Given the description of an element on the screen output the (x, y) to click on. 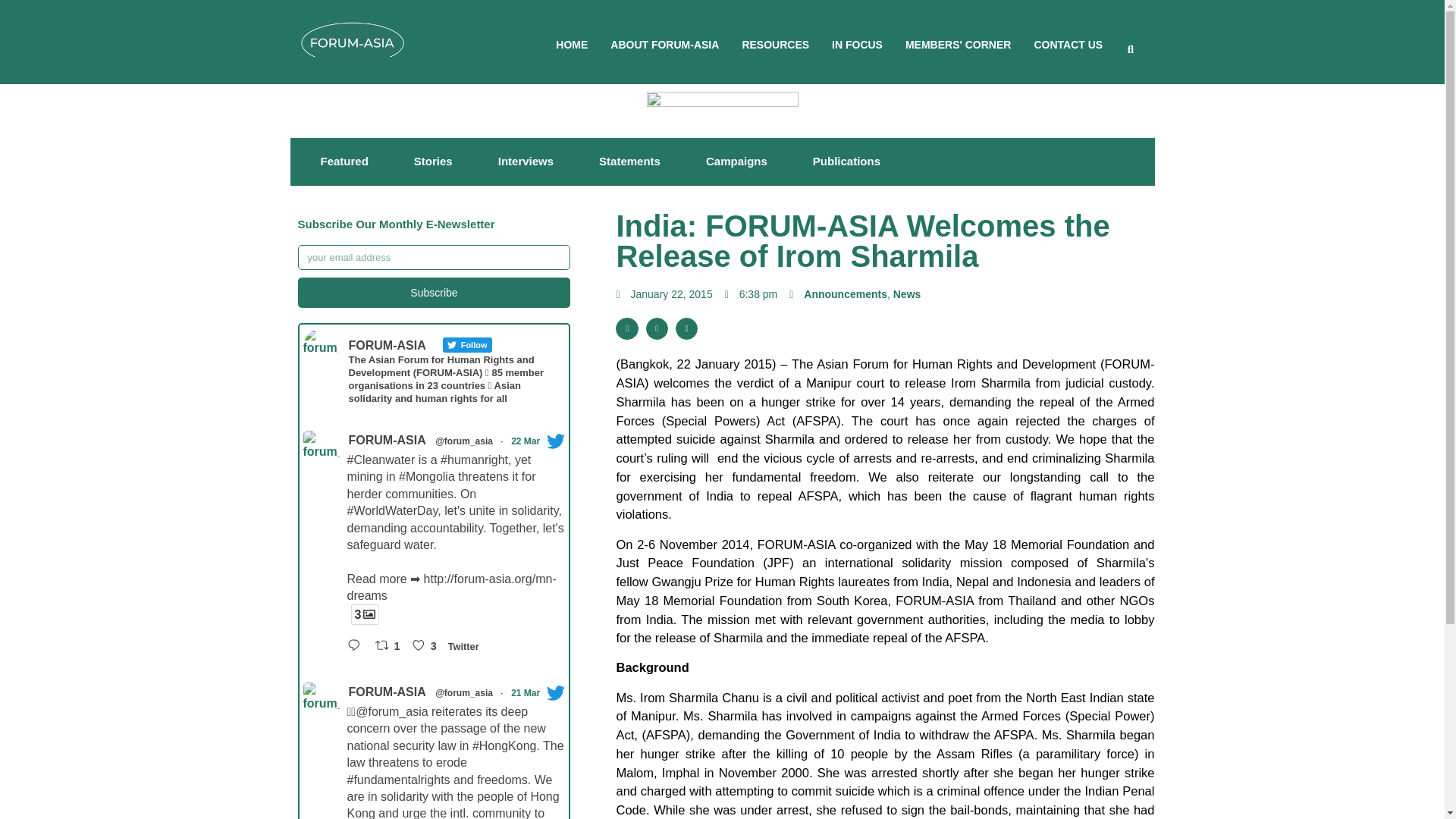
MEMBERS' CORNER (957, 44)
ABOUT FORUM-ASIA (664, 44)
CONTACT US (1067, 44)
HOME (571, 44)
RESOURCES (774, 44)
IN FOCUS (856, 44)
